Given the description of an element on the screen output the (x, y) to click on. 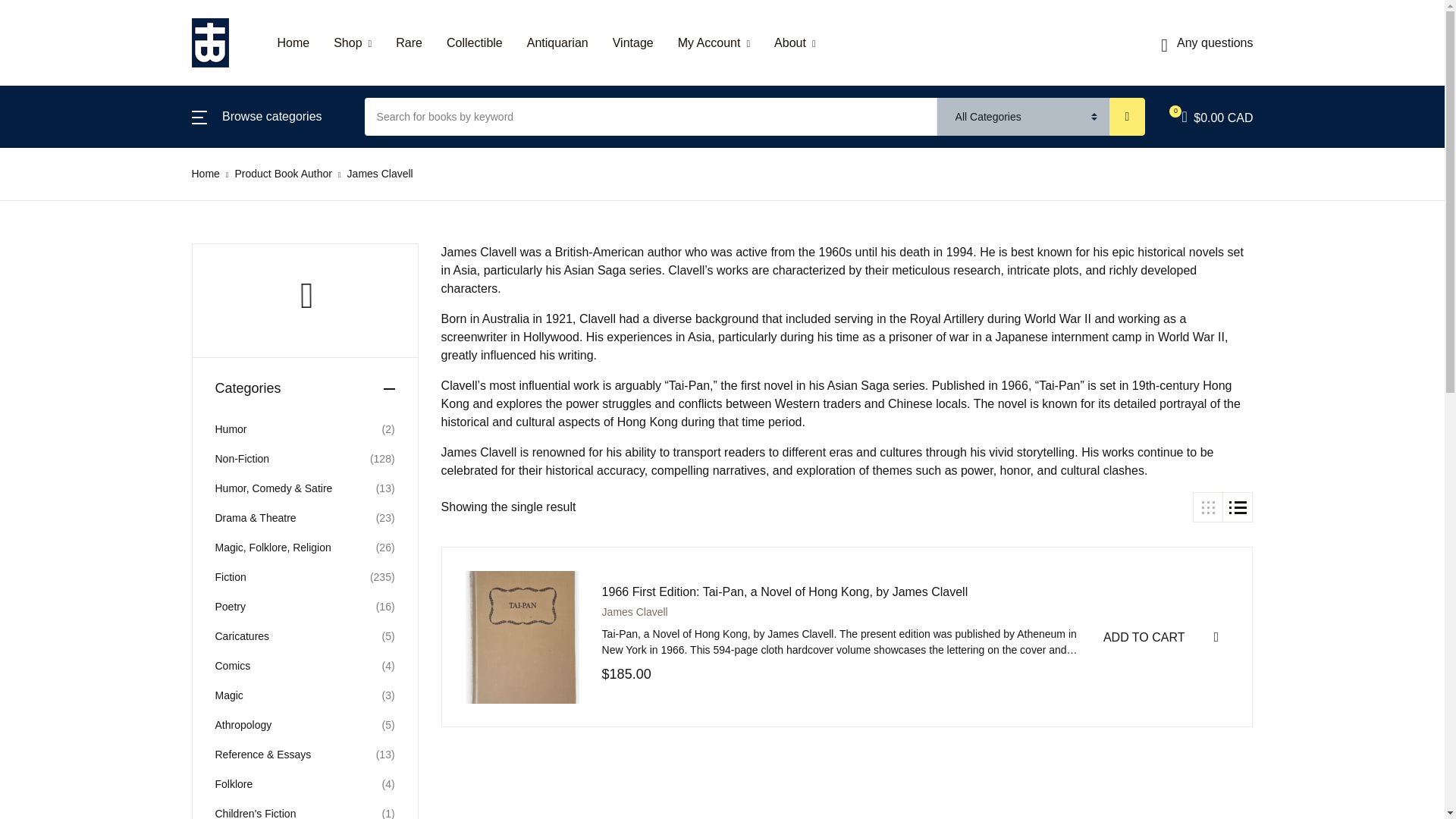
My Account (713, 42)
Any questions (1206, 42)
Collectible (474, 42)
About (794, 42)
My Account (713, 42)
Vintage (632, 42)
Shop (352, 42)
Vintage (632, 42)
Antiquarian (557, 42)
About (794, 42)
